Given the description of an element on the screen output the (x, y) to click on. 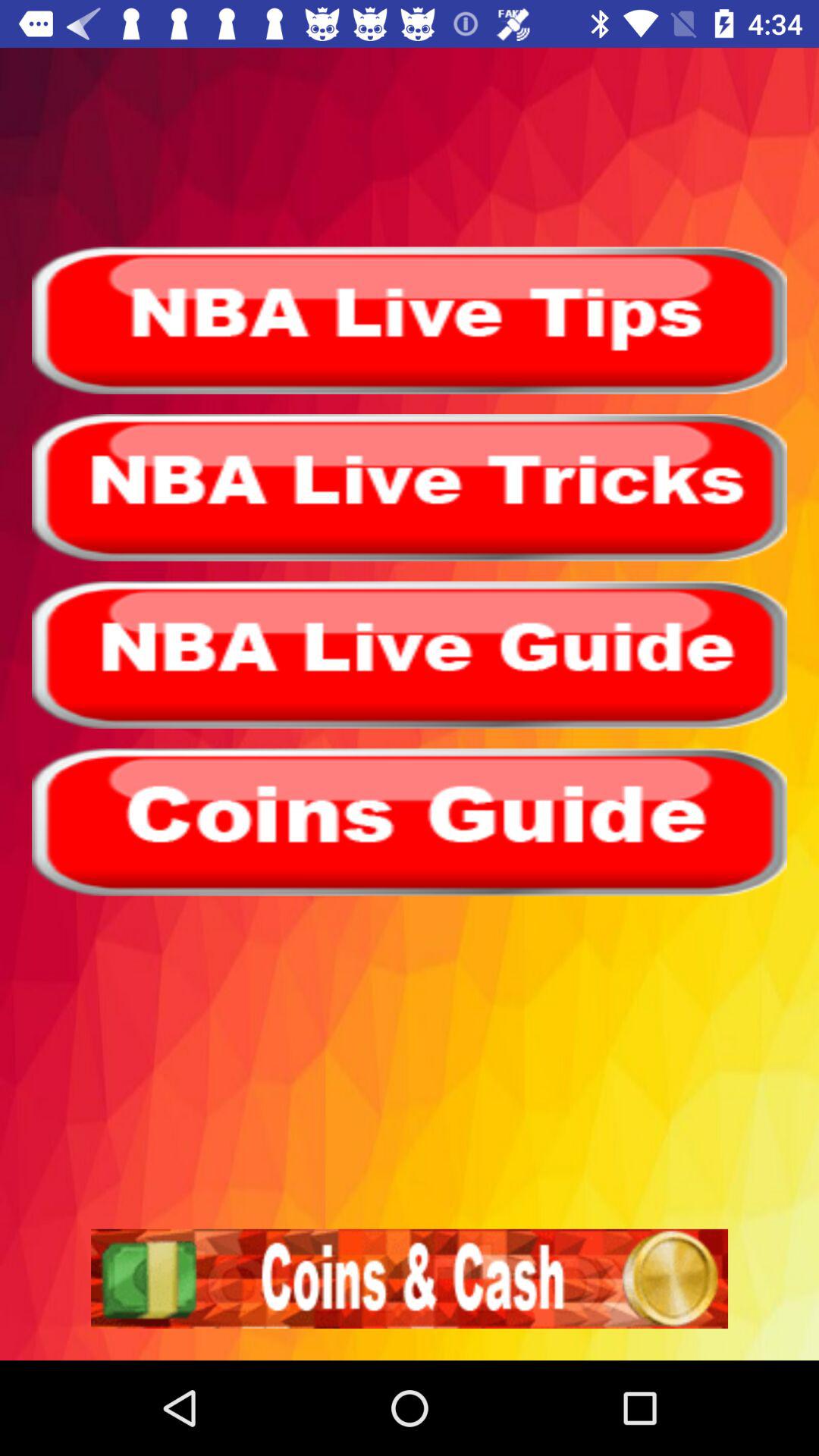
open nba live guide (409, 654)
